Given the description of an element on the screen output the (x, y) to click on. 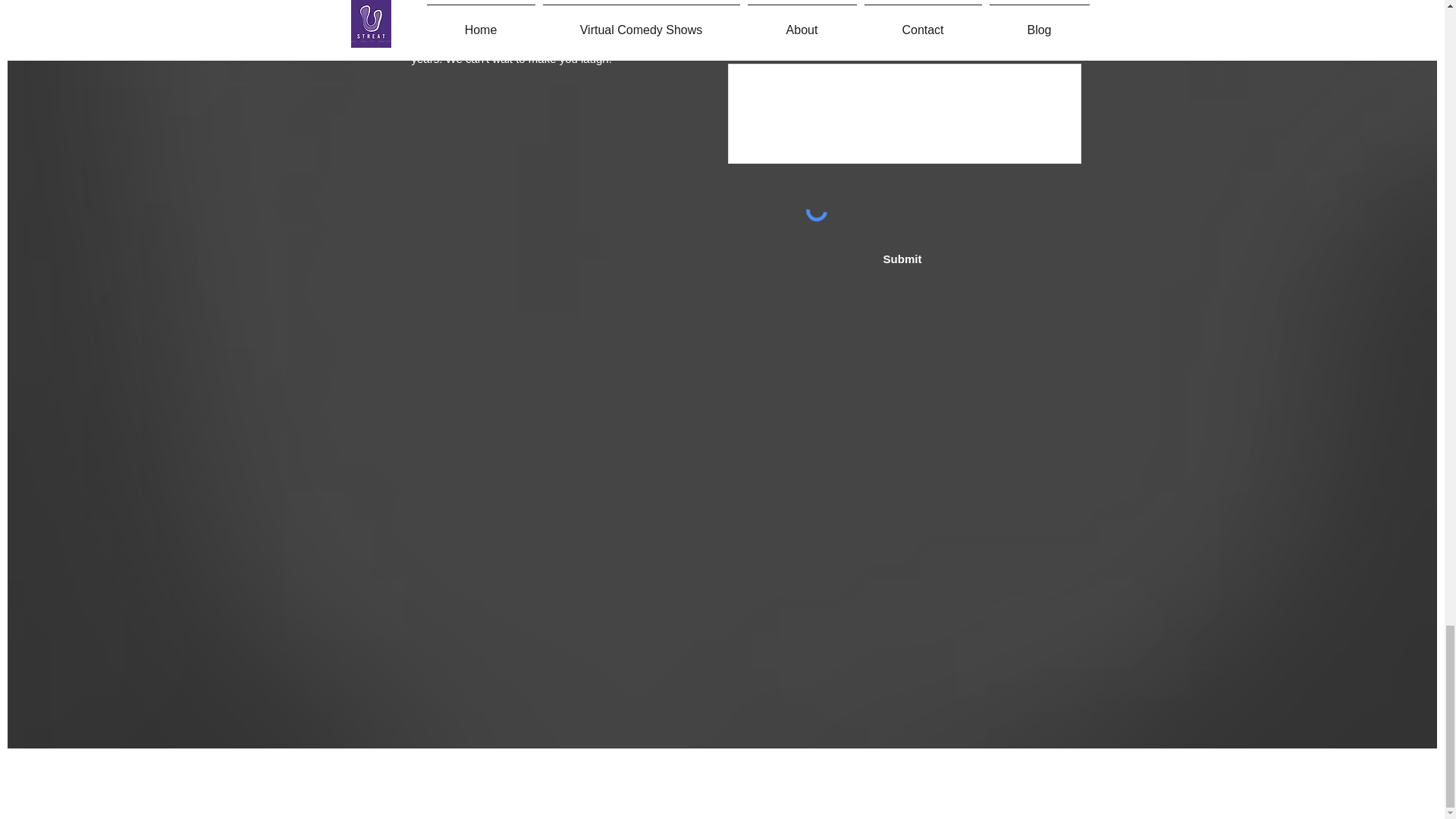
Submit (901, 259)
